Given the description of an element on the screen output the (x, y) to click on. 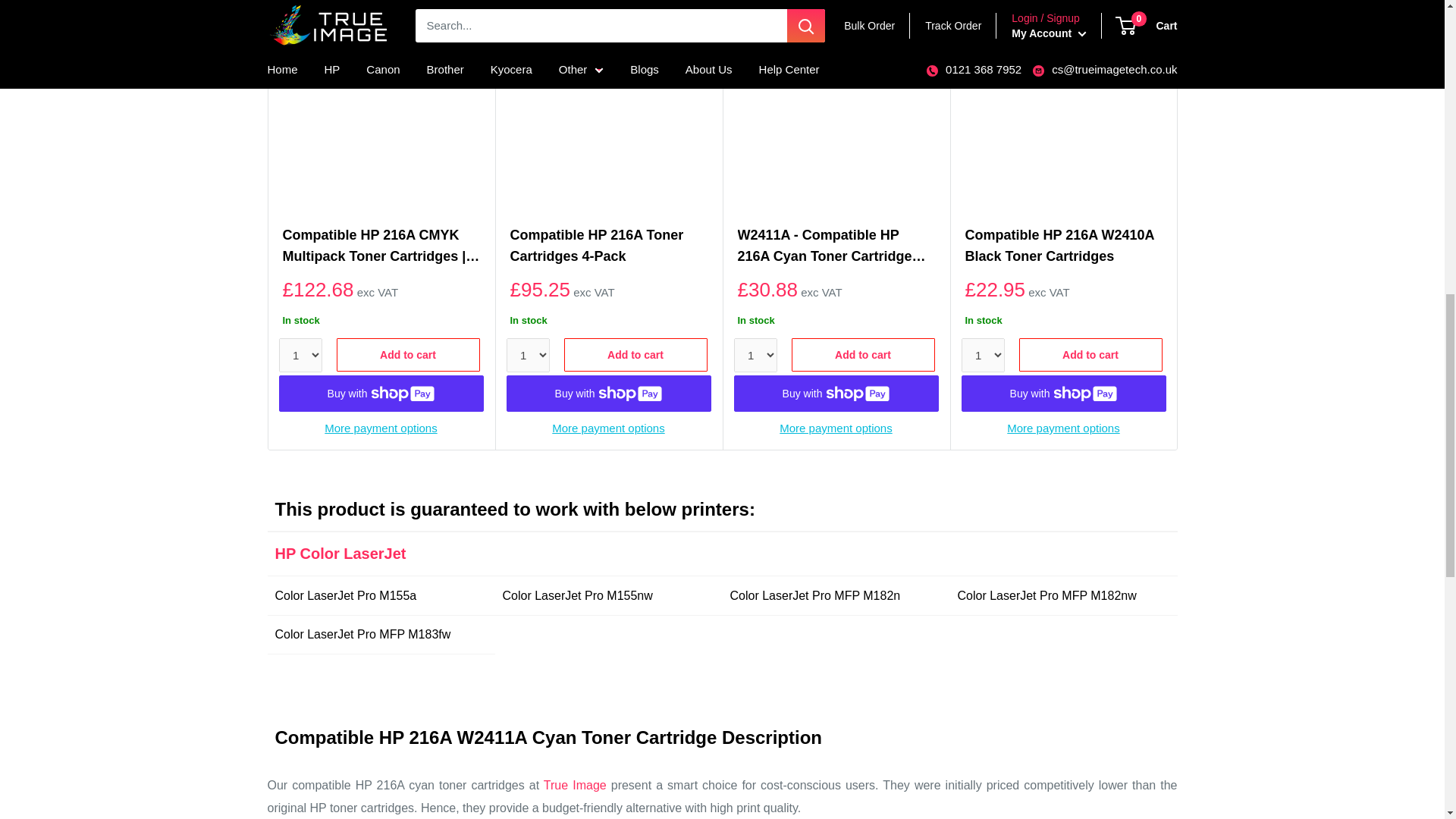
Compatible HP 216A W2410A Black Toner Cartridges (1062, 248)
Compatible HP 216A Toner Cartridges 4-Pack (607, 248)
